Given the description of an element on the screen output the (x, y) to click on. 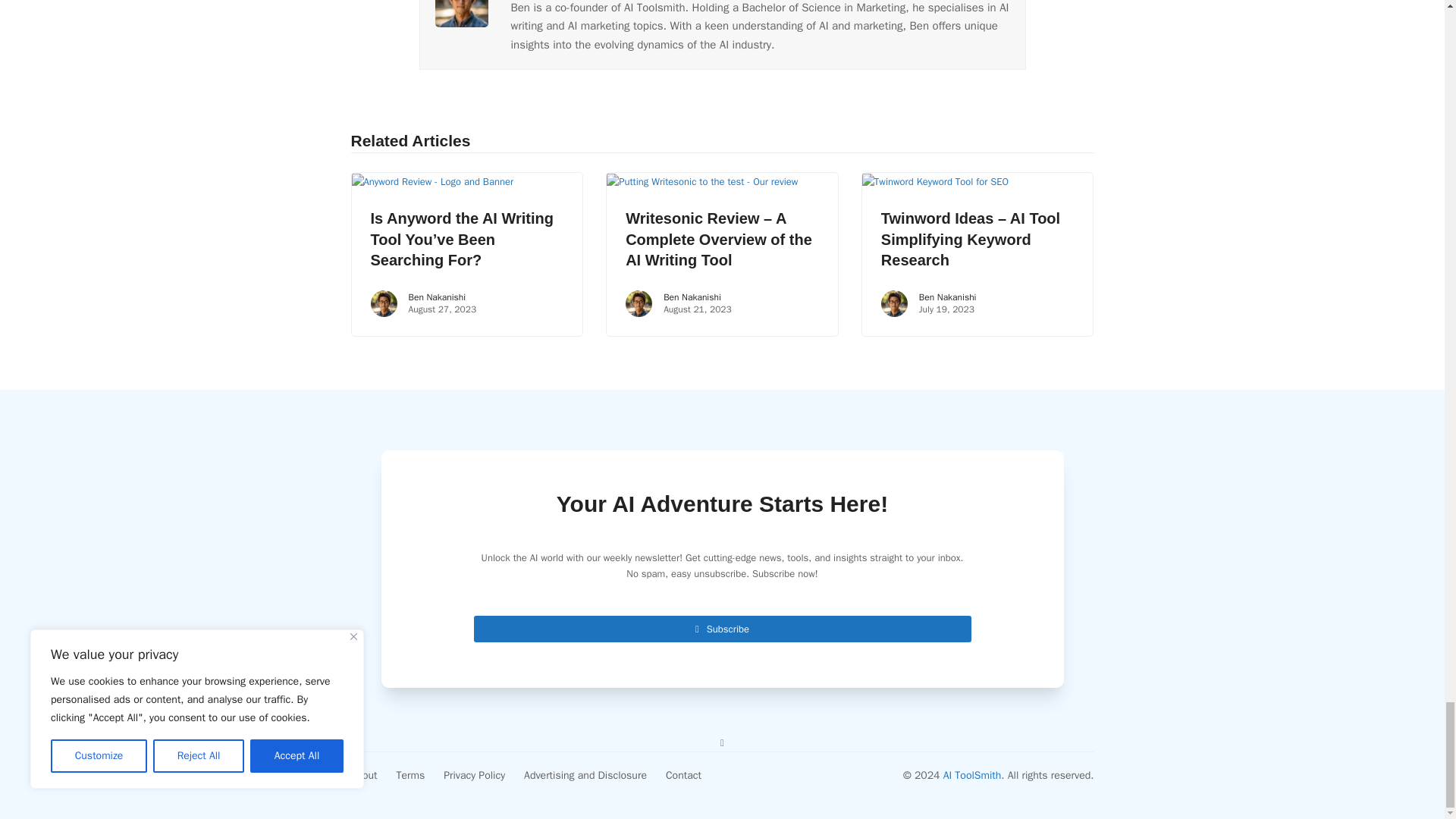
Visit Author Page (461, 2)
Twitter (721, 742)
